Given the description of an element on the screen output the (x, y) to click on. 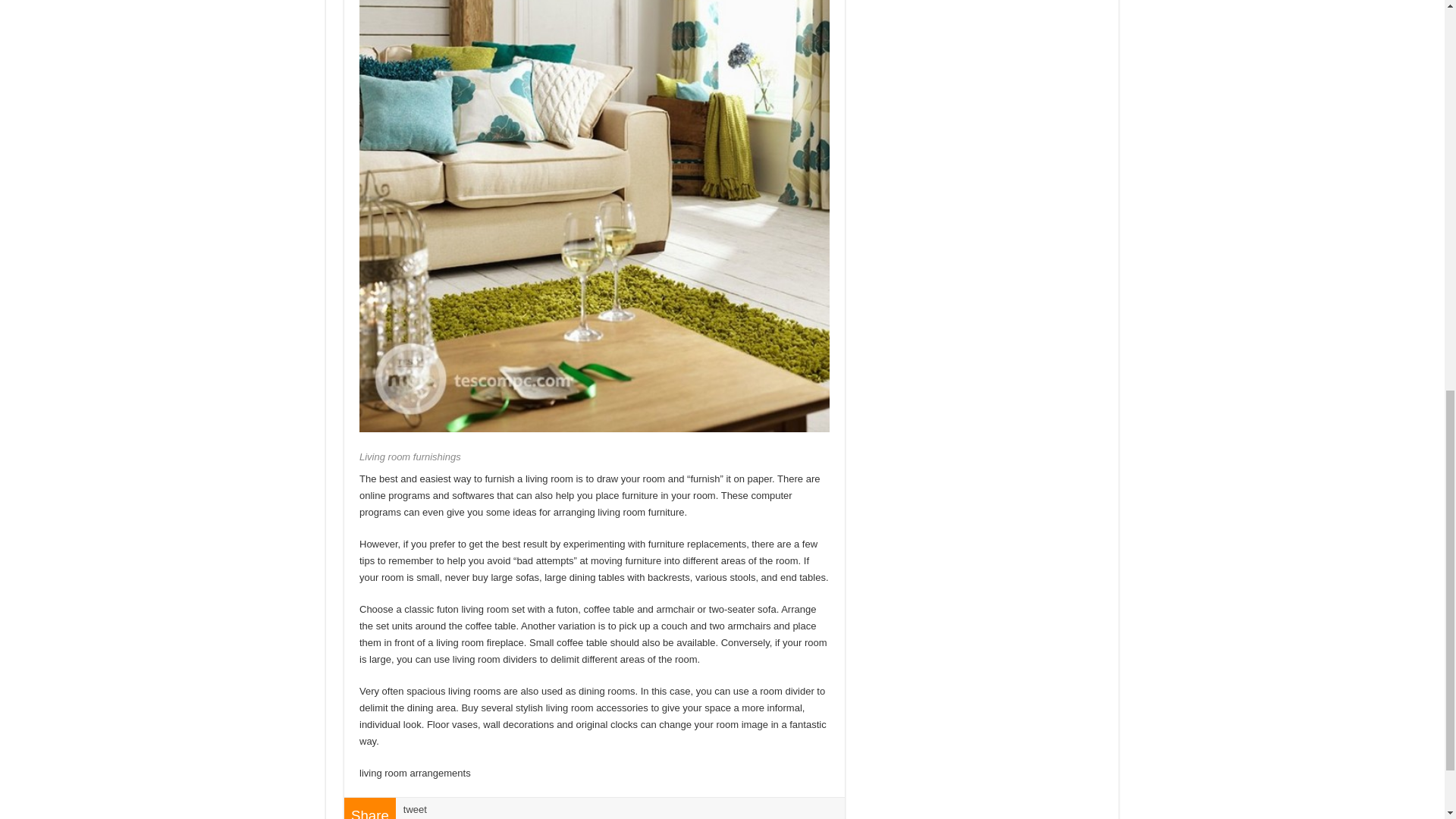
tweet (414, 808)
